Given the description of an element on the screen output the (x, y) to click on. 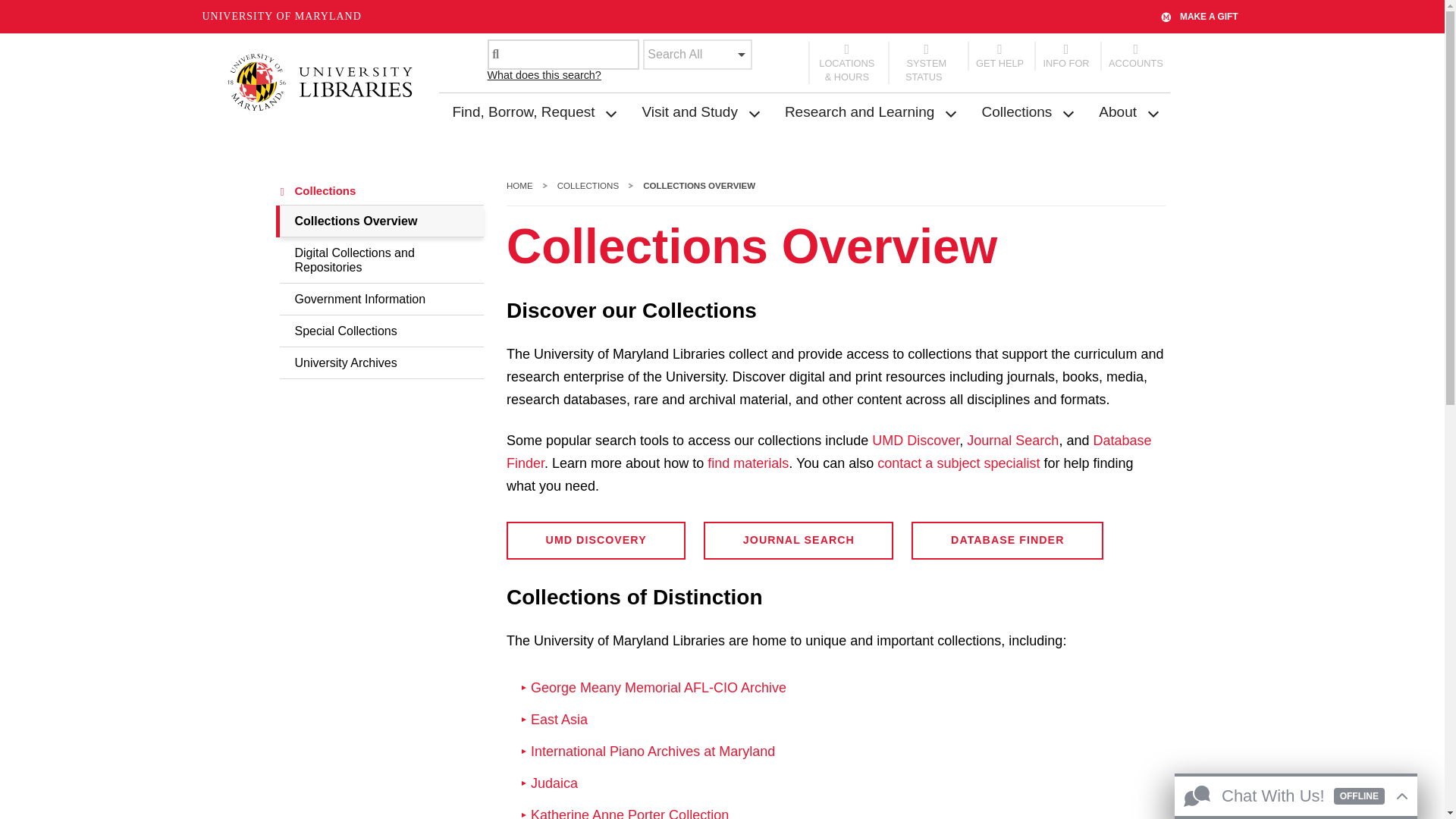
ACCOUNTS (1135, 55)
INFO FOR (1065, 55)
SYSTEM STATUS   (925, 62)
What does this search? (542, 75)
UNIVERSITY OF MARYLAND (281, 16)
Labor and Unions (658, 688)
GET HELP (999, 55)
Find Materials (748, 463)
GIFT (1169, 16)
